Given the description of an element on the screen output the (x, y) to click on. 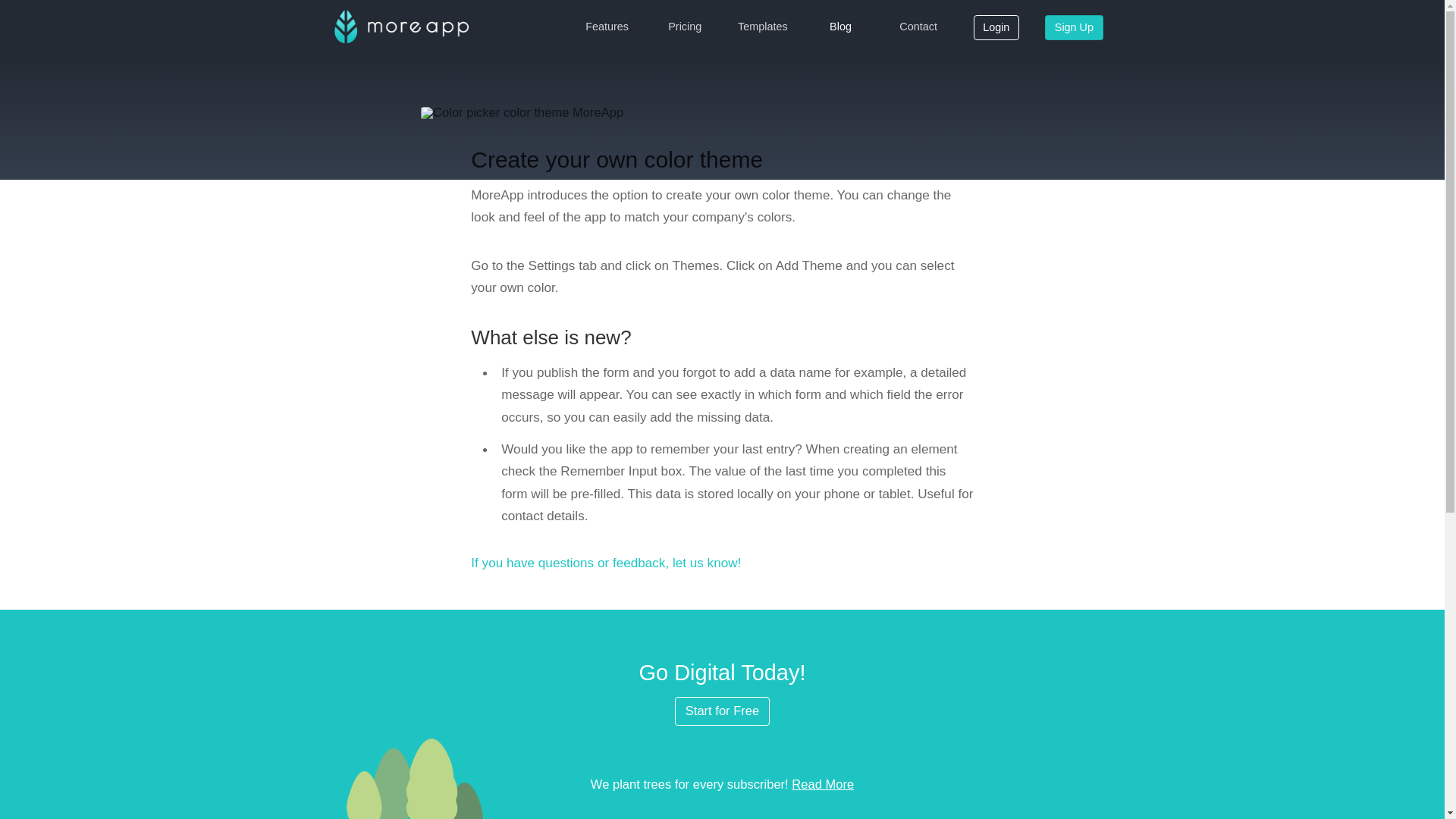
Templates (762, 26)
Login (996, 27)
Features (606, 26)
Contact (918, 26)
If you have questions or feedback, let us know! (605, 562)
Blog (840, 26)
Start for Free (722, 710)
Sign Up (1073, 27)
Read More (822, 784)
Pricing (684, 26)
